Given the description of an element on the screen output the (x, y) to click on. 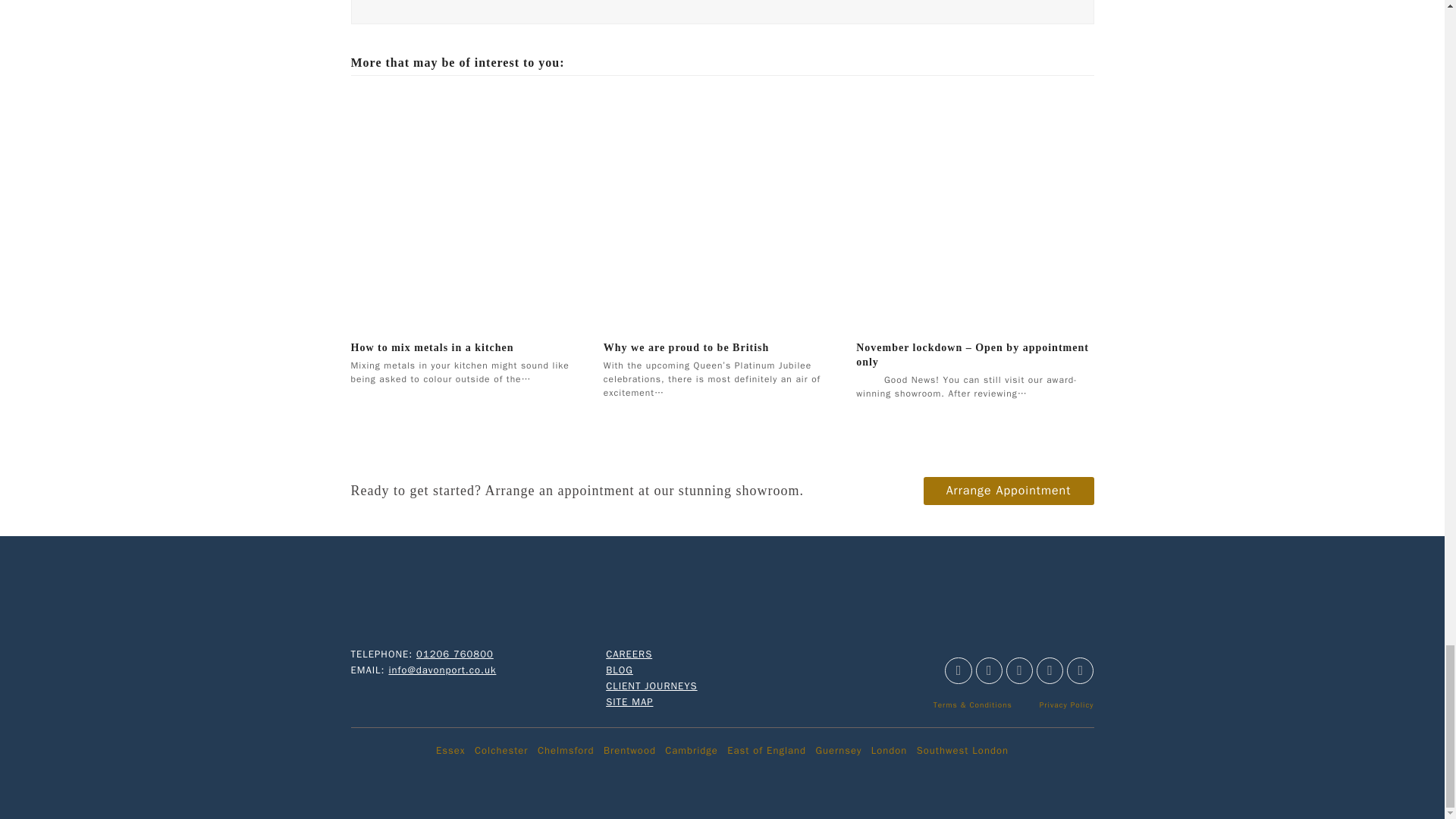
Why we are proud to be British (687, 347)
01206 760800 (454, 653)
How to mix metals in a kitchen (431, 347)
How to mix metals in a kitchen (469, 208)
LinkedIn (1080, 670)
Facebook (957, 670)
Pinterest (1019, 670)
Houzz (1049, 670)
Instagram (989, 670)
Why we are proud to be British (722, 208)
Arrange Appointment (1008, 490)
Luxury kitchens for South West London (963, 749)
